Given the description of an element on the screen output the (x, y) to click on. 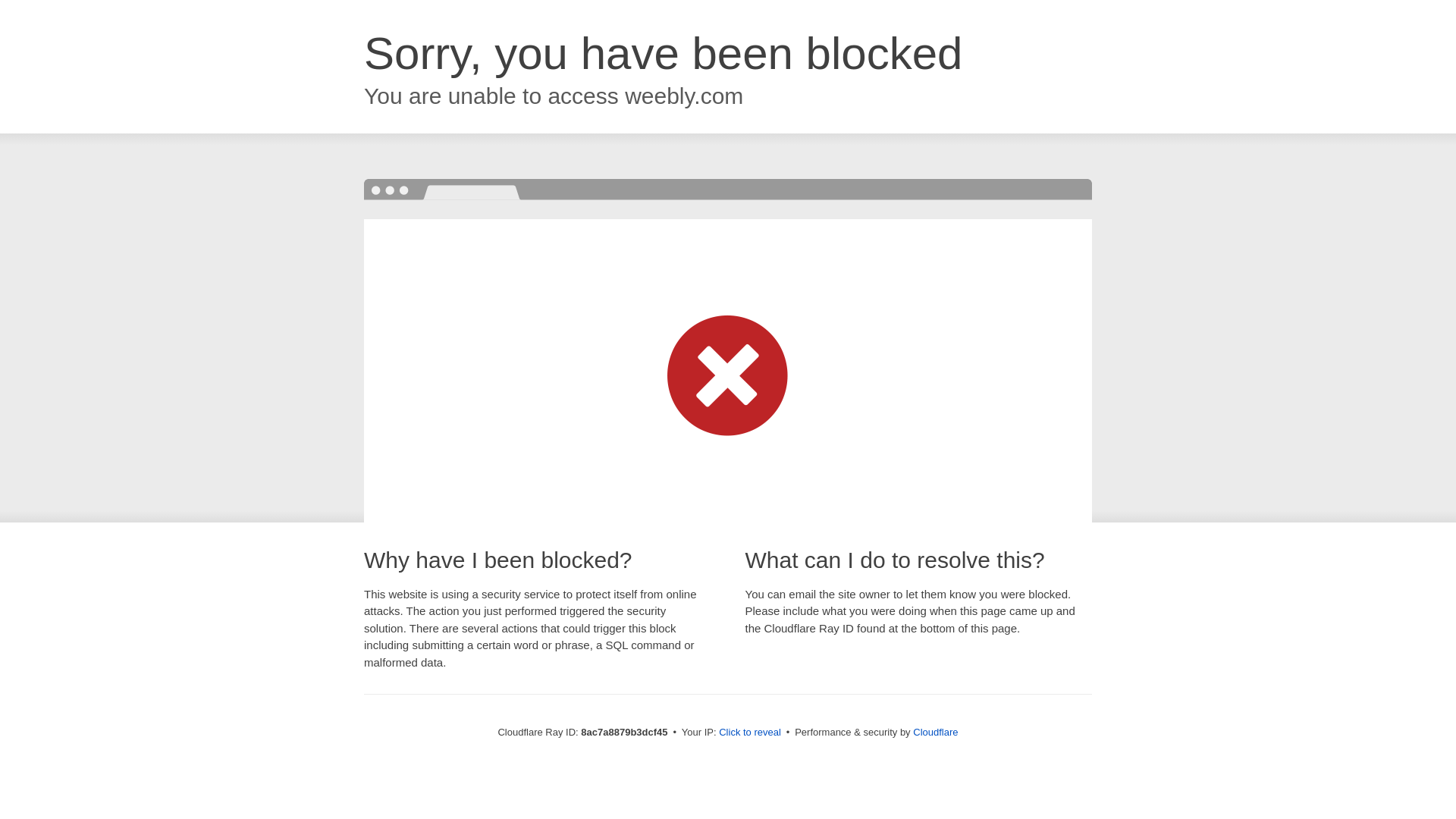
Cloudflare (935, 731)
Click to reveal (749, 732)
